Given the description of an element on the screen output the (x, y) to click on. 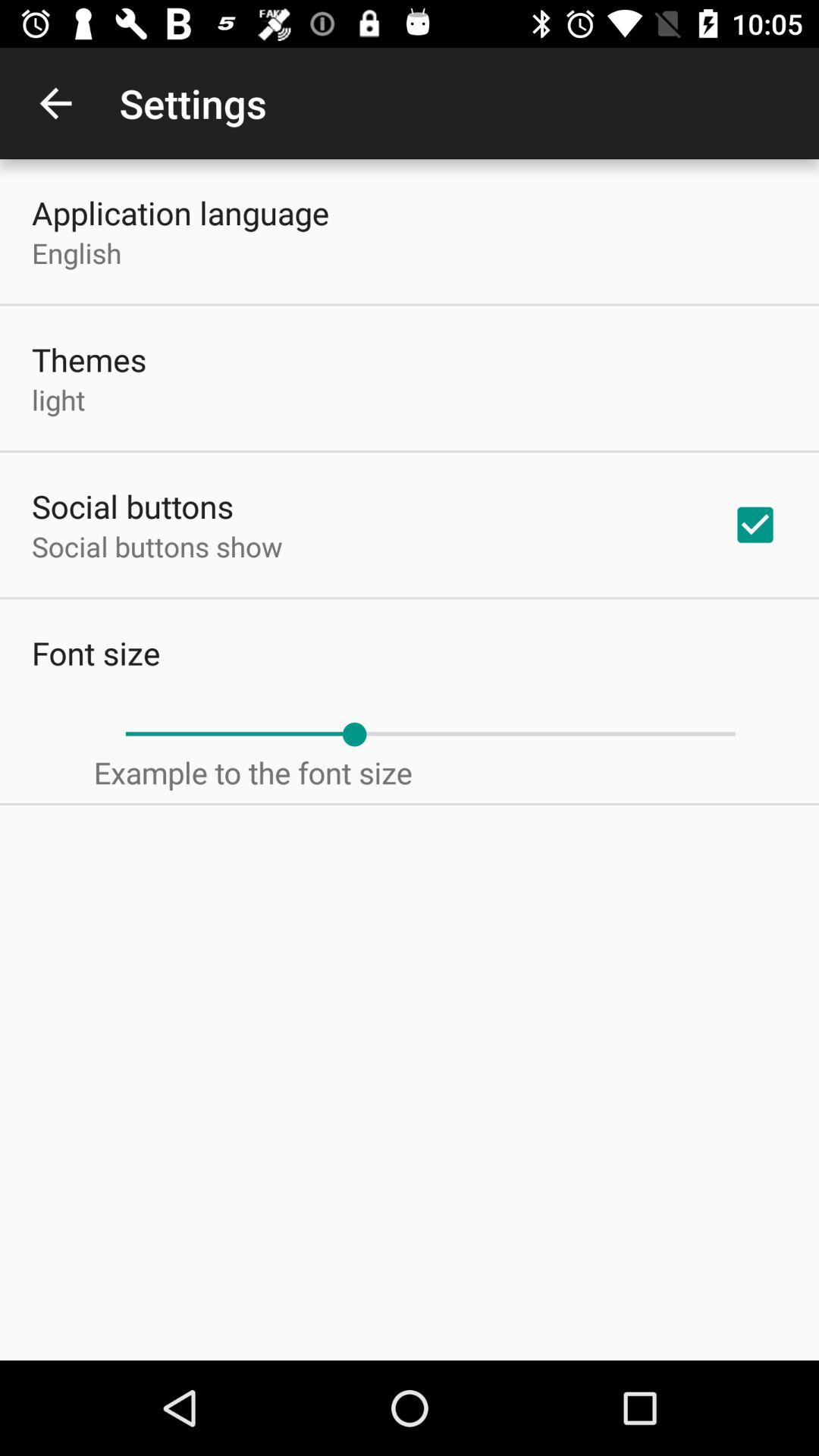
swipe until the example to the item (252, 772)
